Given the description of an element on the screen output the (x, y) to click on. 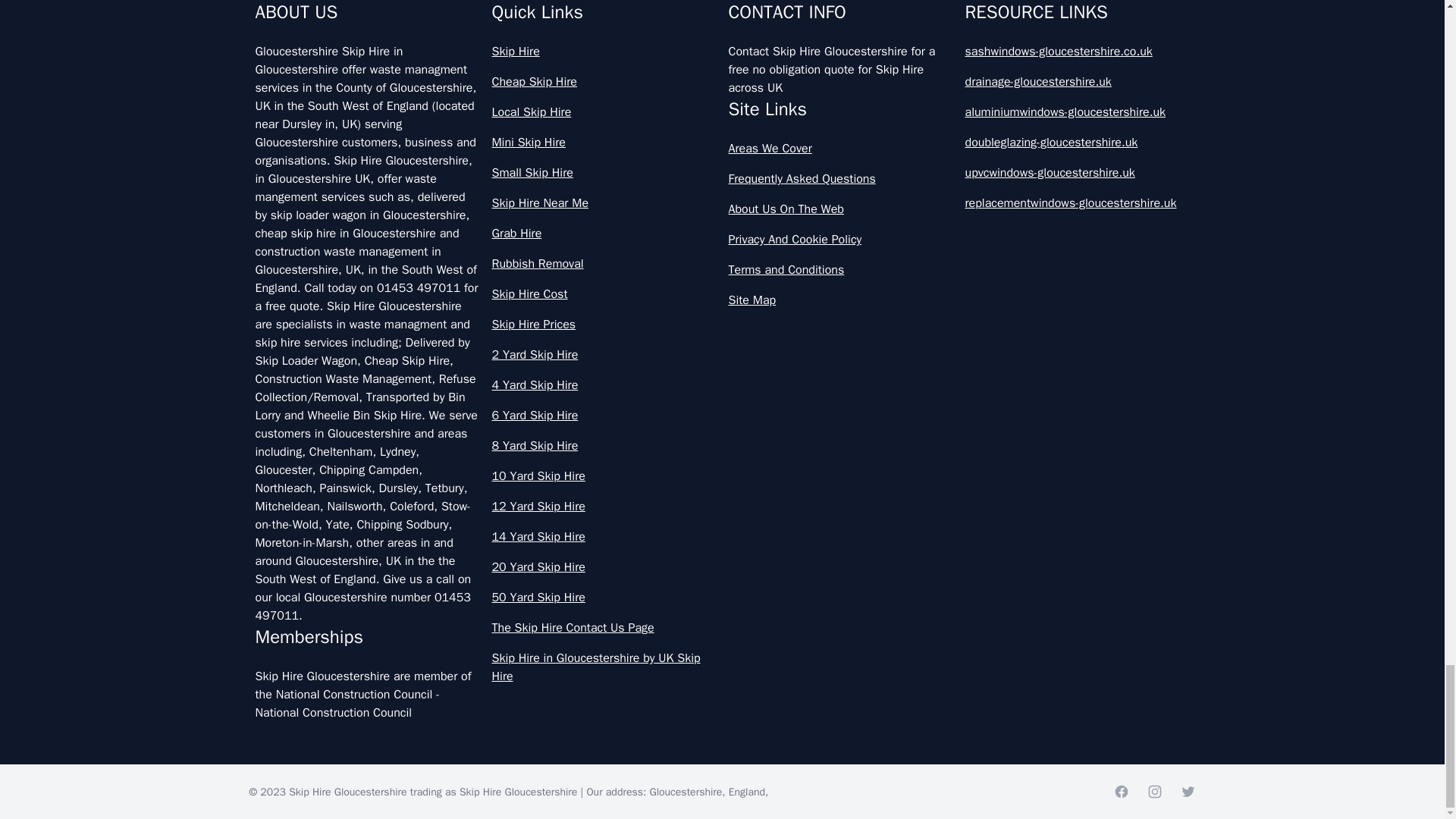
Site Map (840, 300)
doubleglazing-gloucestershire.uk (1076, 142)
replacementwindows-gloucestershire.uk (1076, 203)
upvcwindows-gloucestershire.uk (1076, 172)
aluminiumwindows-gloucestershire.uk (1076, 112)
Skip Hire in Gloucestershire by UK Skip Hire (604, 667)
Rockness (945, 36)
Newmarket (486, 36)
drainage-gloucestershire.uk (1076, 81)
sashwindows-gloucestershire.co.uk (1076, 51)
